Given the description of an element on the screen output the (x, y) to click on. 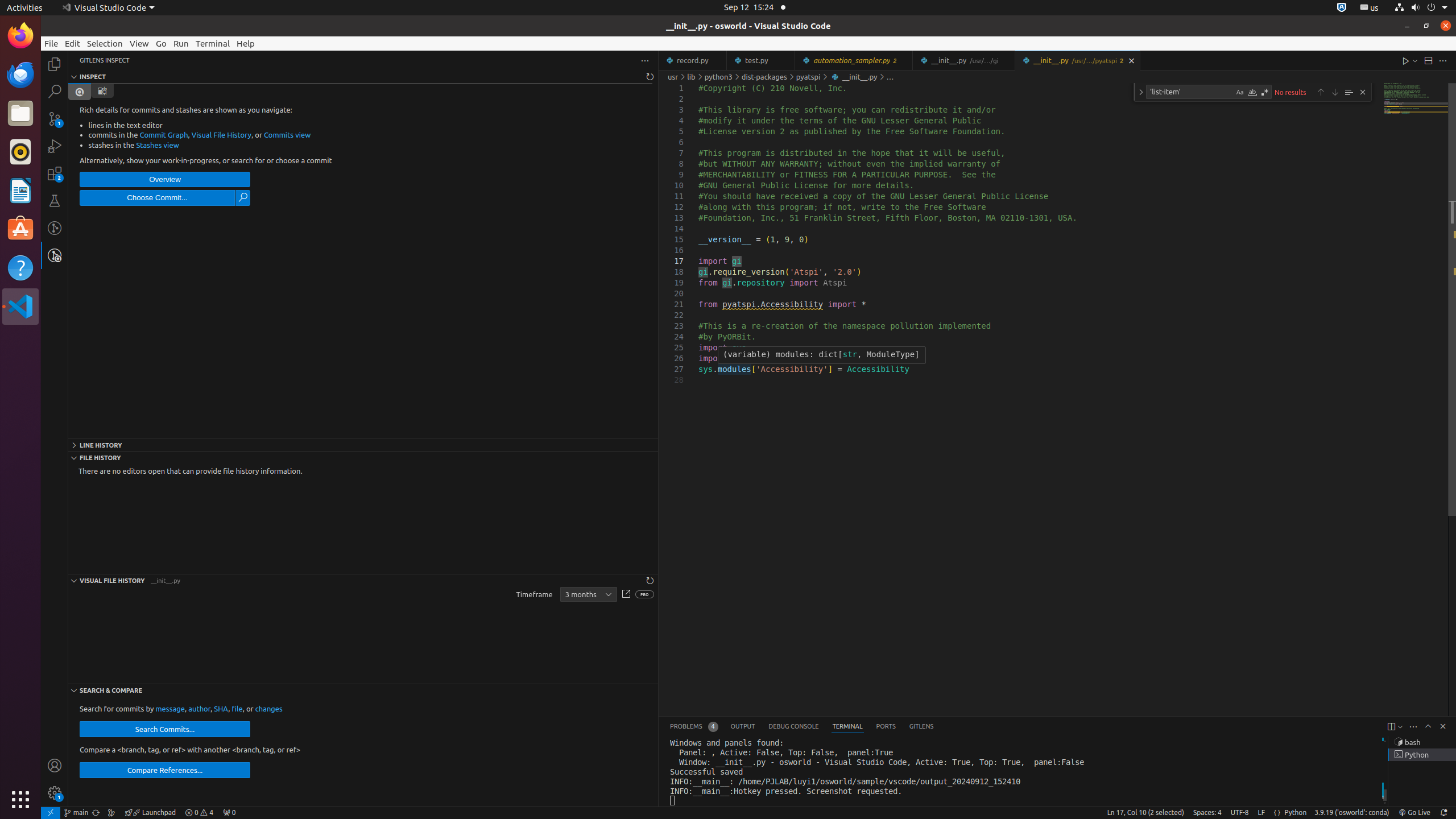
Toggle Replace Element type: push-button (1140, 92)
Compare References... Element type: push-button (164, 770)
GitLens Inspect Element type: page-tab (54, 255)
remote Element type: push-button (50, 812)
OSWorld (Git) - Synchronize Changes Element type: push-button (95, 812)
